Given the description of an element on the screen output the (x, y) to click on. 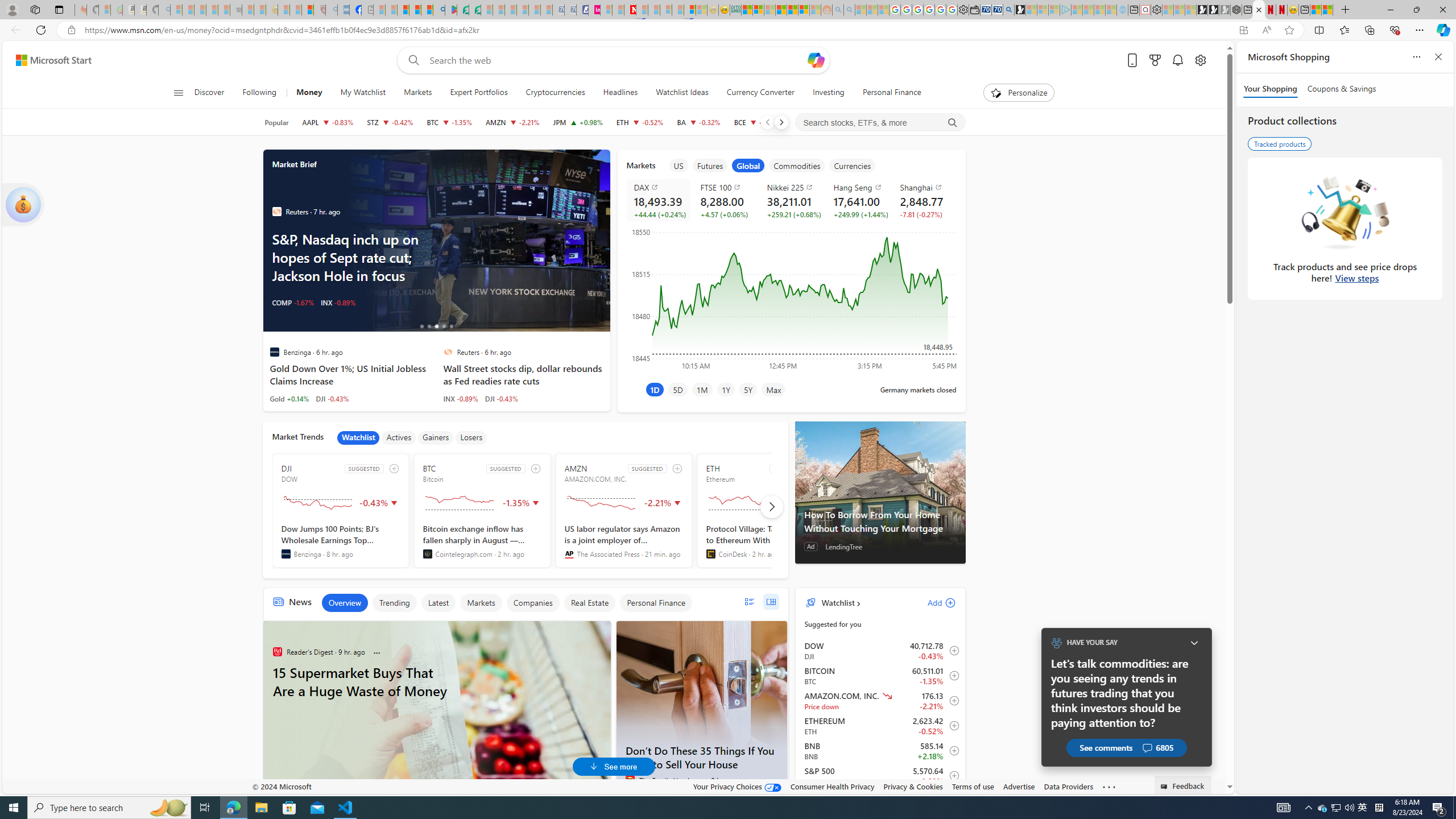
DJI -0.43% (501, 397)
Latest Politics News & Archive | Newsweek.com (629, 9)
Skip to footer (46, 59)
AMZN AMAZON.COM, INC. decrease 176.13 -3.98 -2.21% item2 (880, 700)
Cryptocurrencies (555, 92)
Microsoft account | Privacy (758, 9)
Utah sues federal government - Search - Sleeping (849, 9)
BA THE BOEING COMPANY decrease 172.87 -0.56 -0.32% (698, 122)
Headlines (620, 92)
